Given the description of an element on the screen output the (x, y) to click on. 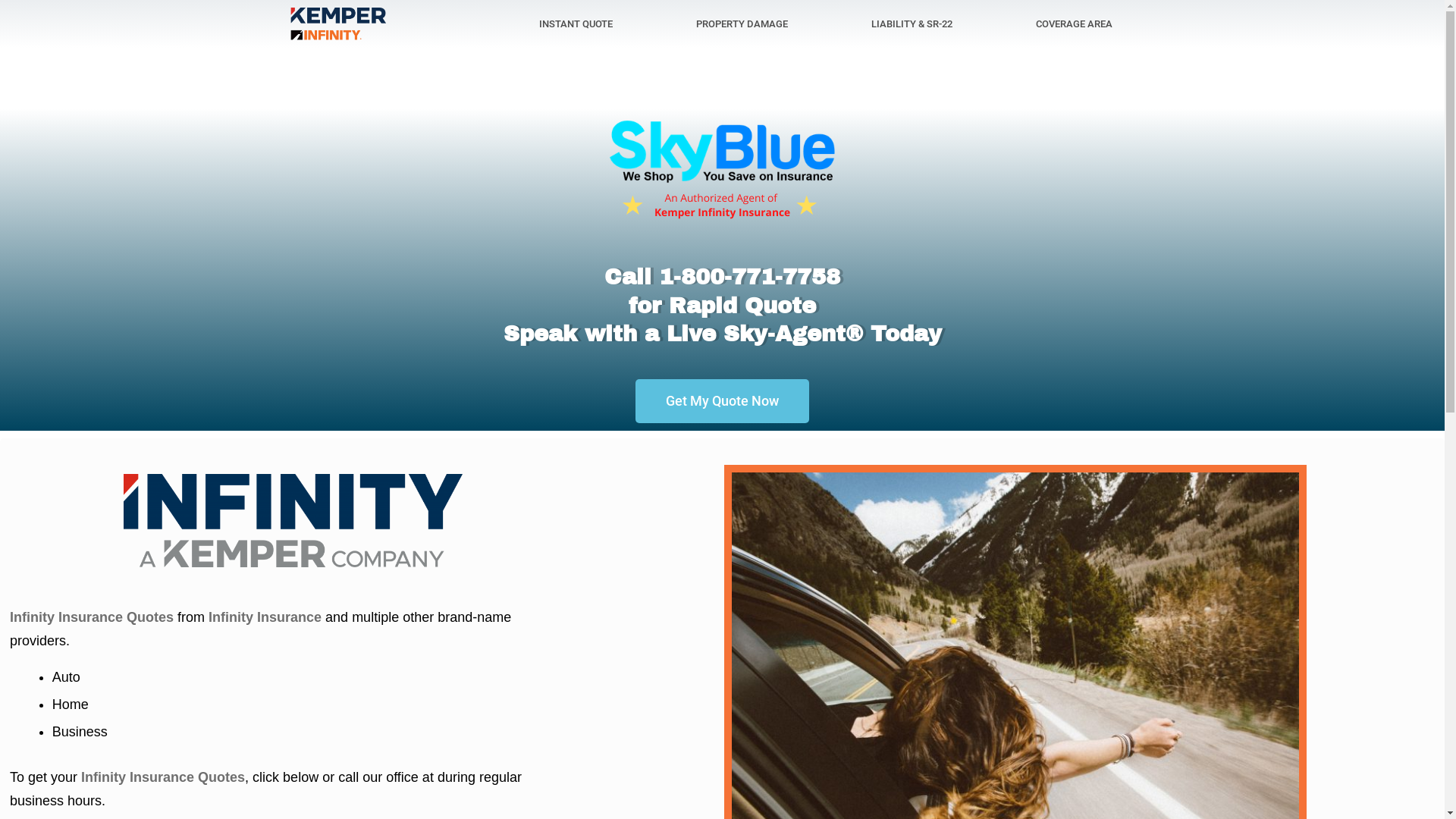
INSTANT QUOTE Element type: text (574, 24)
LIABILITY & SR-22 Element type: text (911, 24)
PROPERTY DAMAGE Element type: text (741, 24)
Get My Quote Now Element type: text (722, 401)
COVERAGE AREA Element type: text (1074, 24)
